Given the description of an element on the screen output the (x, y) to click on. 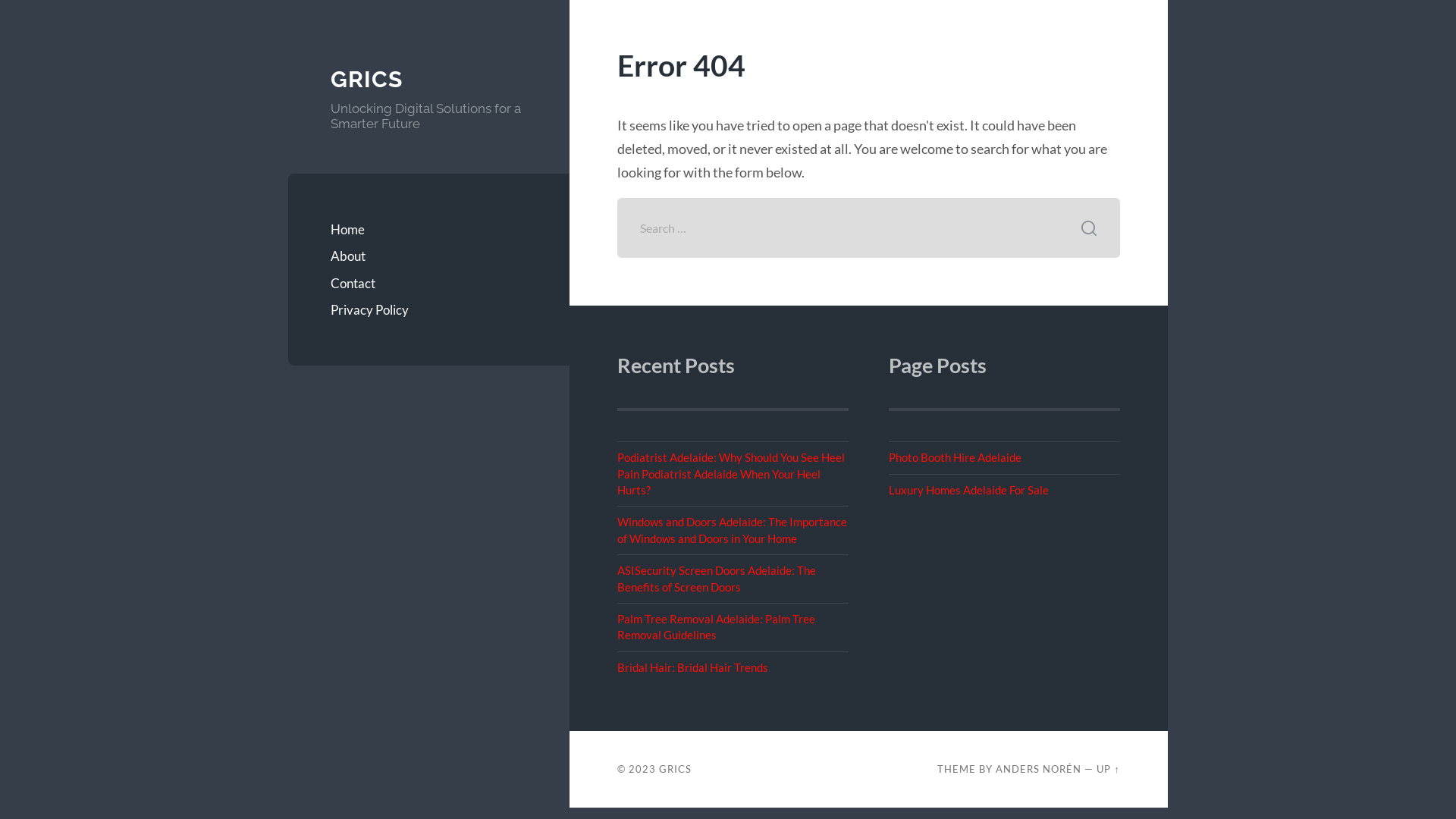
GRICS Element type: text (366, 78)
Privacy Policy Element type: text (428, 309)
Contact Element type: text (428, 283)
Search Element type: text (1088, 227)
Home Element type: text (428, 229)
Photo Booth Hire Adelaide Element type: text (954, 457)
Luxury Homes Adelaide For Sale Element type: text (968, 489)
GRICS Element type: text (674, 768)
About Element type: text (428, 255)
Bridal Hair: Bridal Hair Trends Element type: text (692, 667)
Palm Tree Removal Adelaide: Palm Tree Removal Guidelines Element type: text (716, 626)
